Given the description of an element on the screen output the (x, y) to click on. 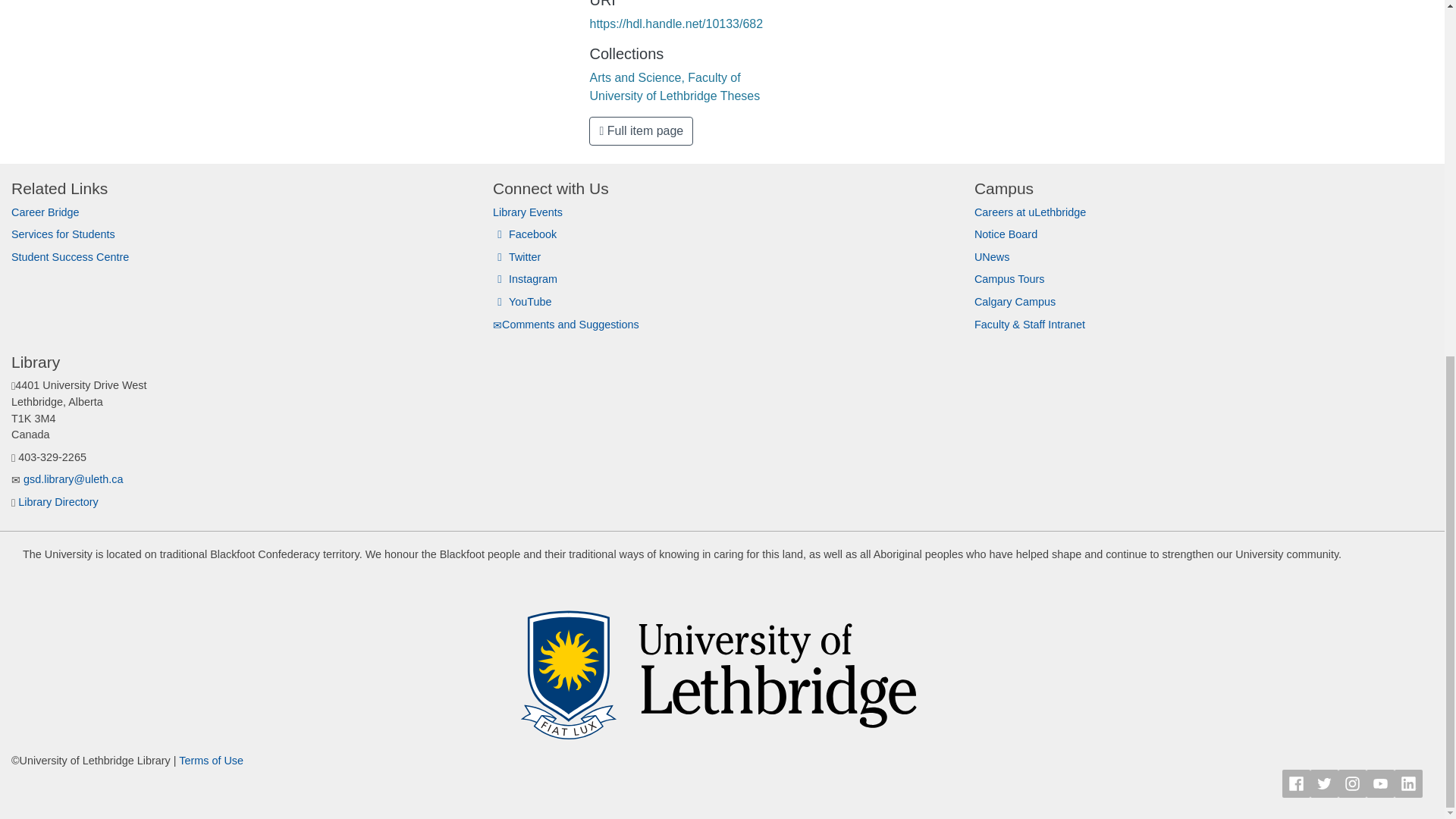
Twitter (516, 256)
Campus Tours (1009, 278)
YouTube Link (1380, 783)
Student Success Centre (70, 256)
Careers at uLethbridge (1030, 212)
Career Bridge (45, 212)
Instagram Link (1352, 783)
Instagram (525, 278)
Notice Board (1005, 234)
YouTube (522, 301)
University of Lethbridge Theses (674, 95)
Library Events (527, 212)
Comments and Suggestions (566, 324)
Arts and Science, Faculty of (664, 77)
Facebook Link (1296, 783)
